Given the description of an element on the screen output the (x, y) to click on. 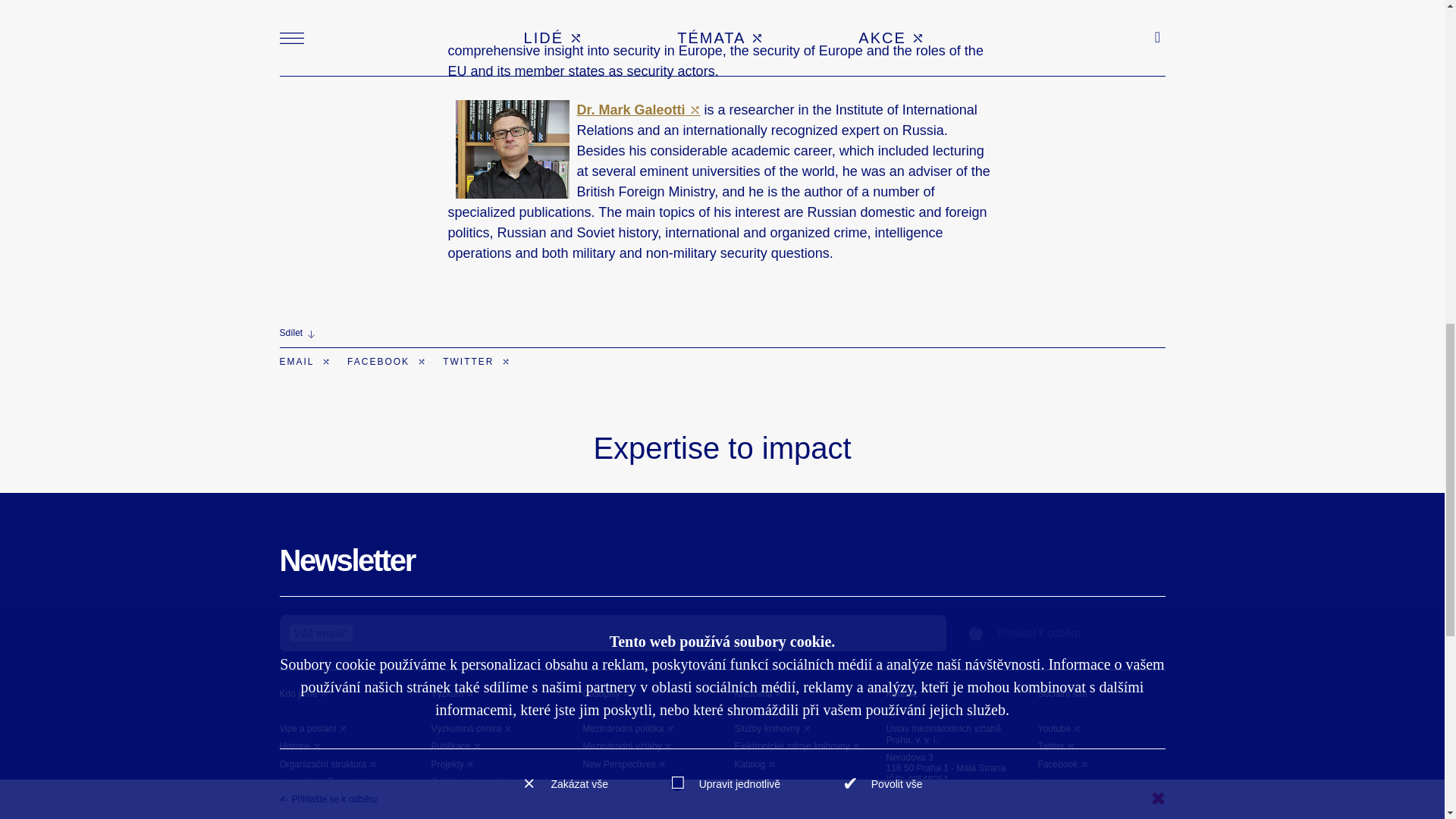
EMAIL (304, 361)
FACEBOOK (386, 361)
Kdo jsme (302, 693)
TWITTER (476, 361)
Dr. Mark Galeotti (638, 109)
